Given the description of an element on the screen output the (x, y) to click on. 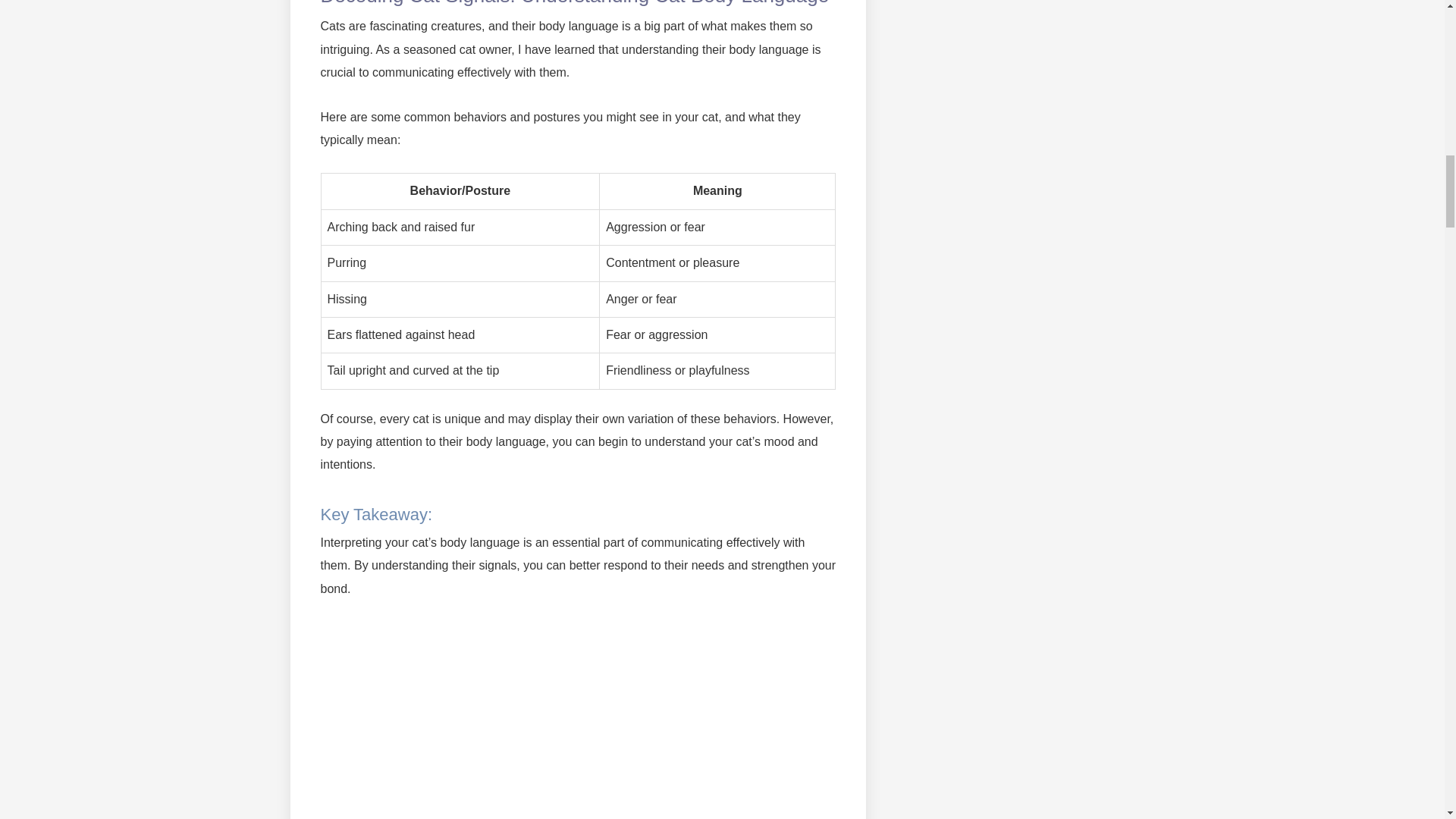
cat body language (577, 720)
